Given the description of an element on the screen output the (x, y) to click on. 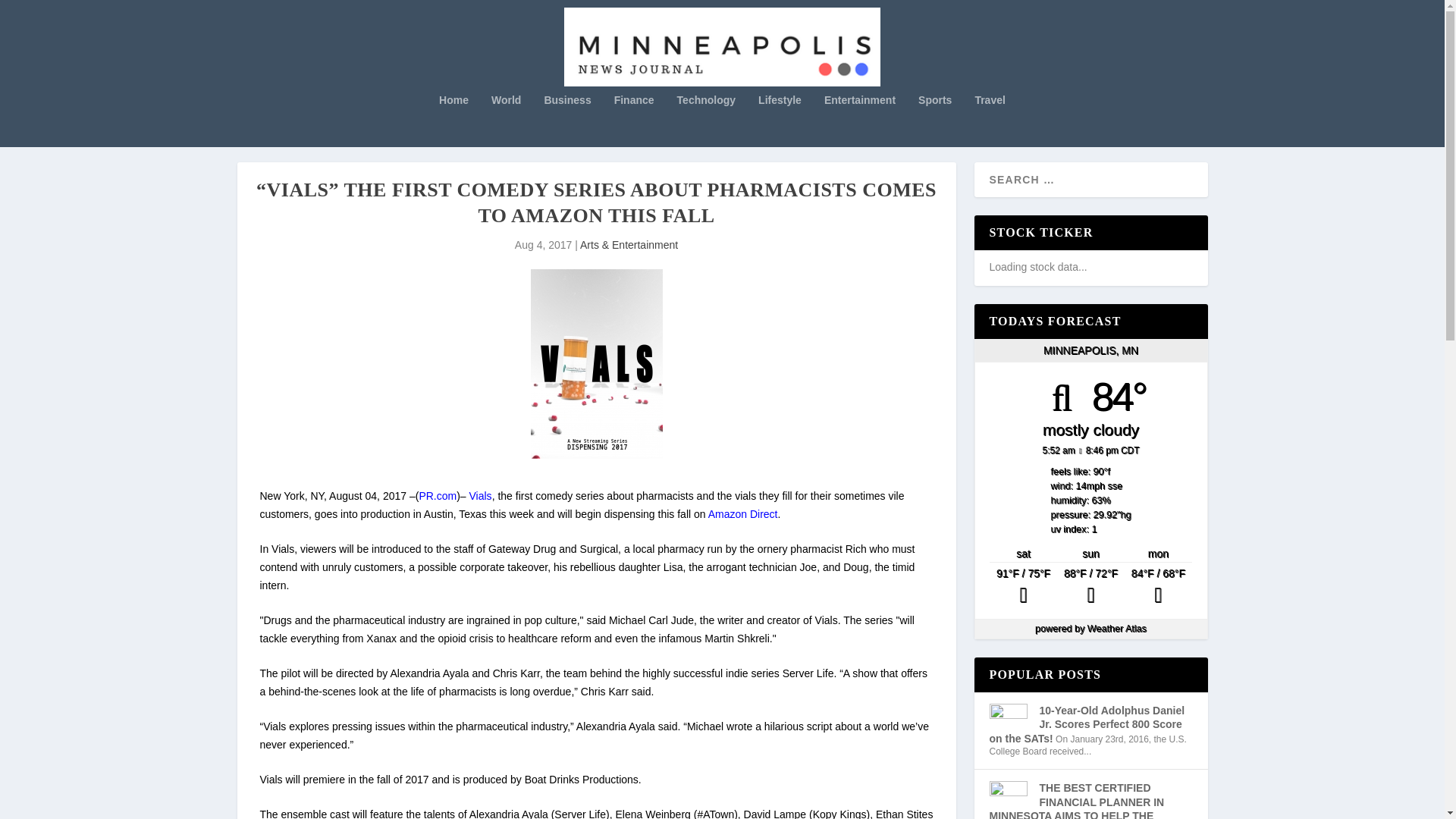
World (506, 120)
Mostly Sunny (1090, 587)
Sports (935, 120)
Lifestyle (780, 120)
Entertainment (859, 120)
Vials (480, 495)
PR.com (438, 495)
Technology (706, 120)
Business (567, 120)
Home (453, 120)
Sunny (1023, 587)
AM Thunderstorms (1158, 587)
Travel (989, 120)
Amazon Direct (742, 513)
Search (31, 13)
